Given the description of an element on the screen output the (x, y) to click on. 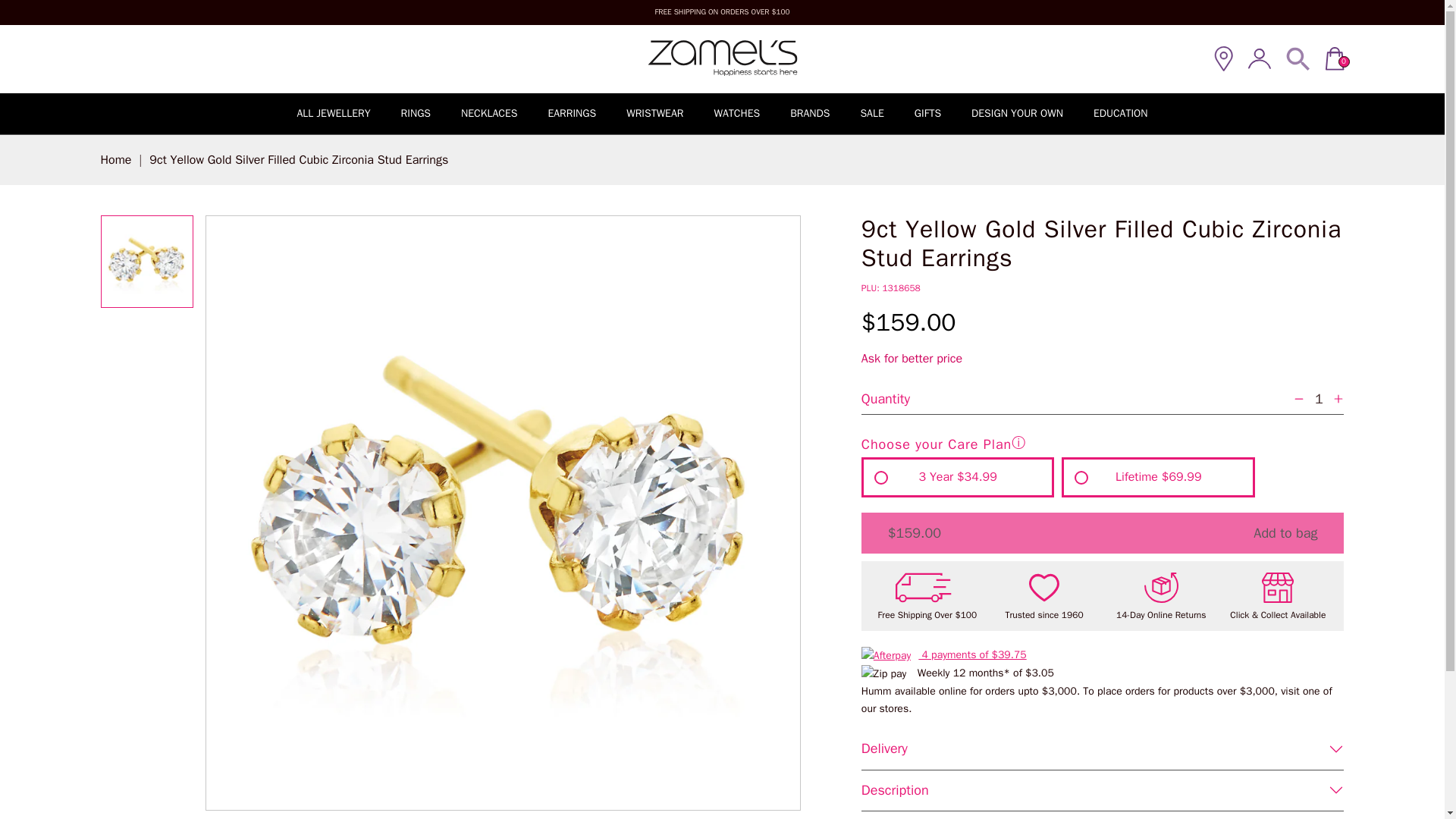
NECKLACES (488, 112)
Account (1259, 58)
RINGS (415, 112)
Search (1297, 58)
ALL JEWELLERY (333, 112)
Skip to content (73, 27)
1 (1318, 398)
